Given the description of an element on the screen output the (x, y) to click on. 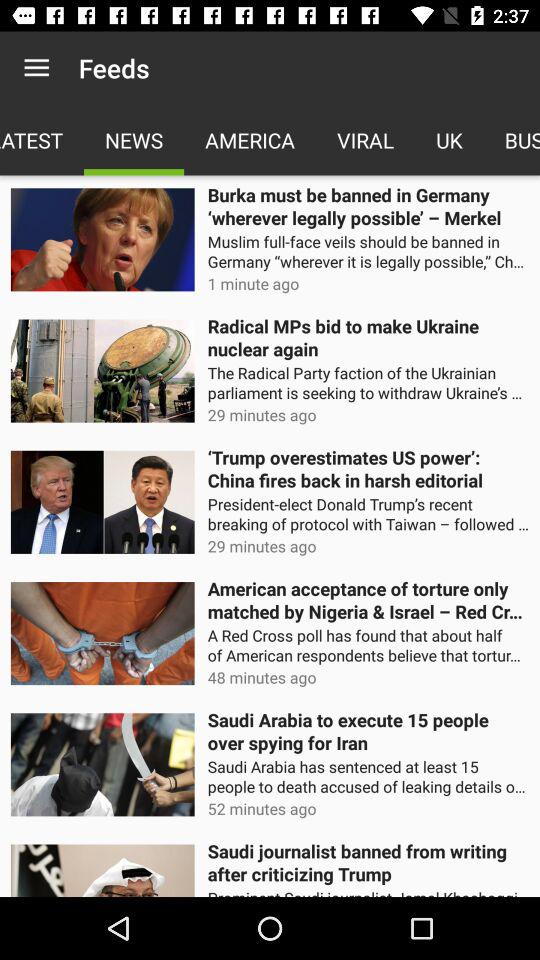
turn off icon to the left of the business item (449, 140)
